Given the description of an element on the screen output the (x, y) to click on. 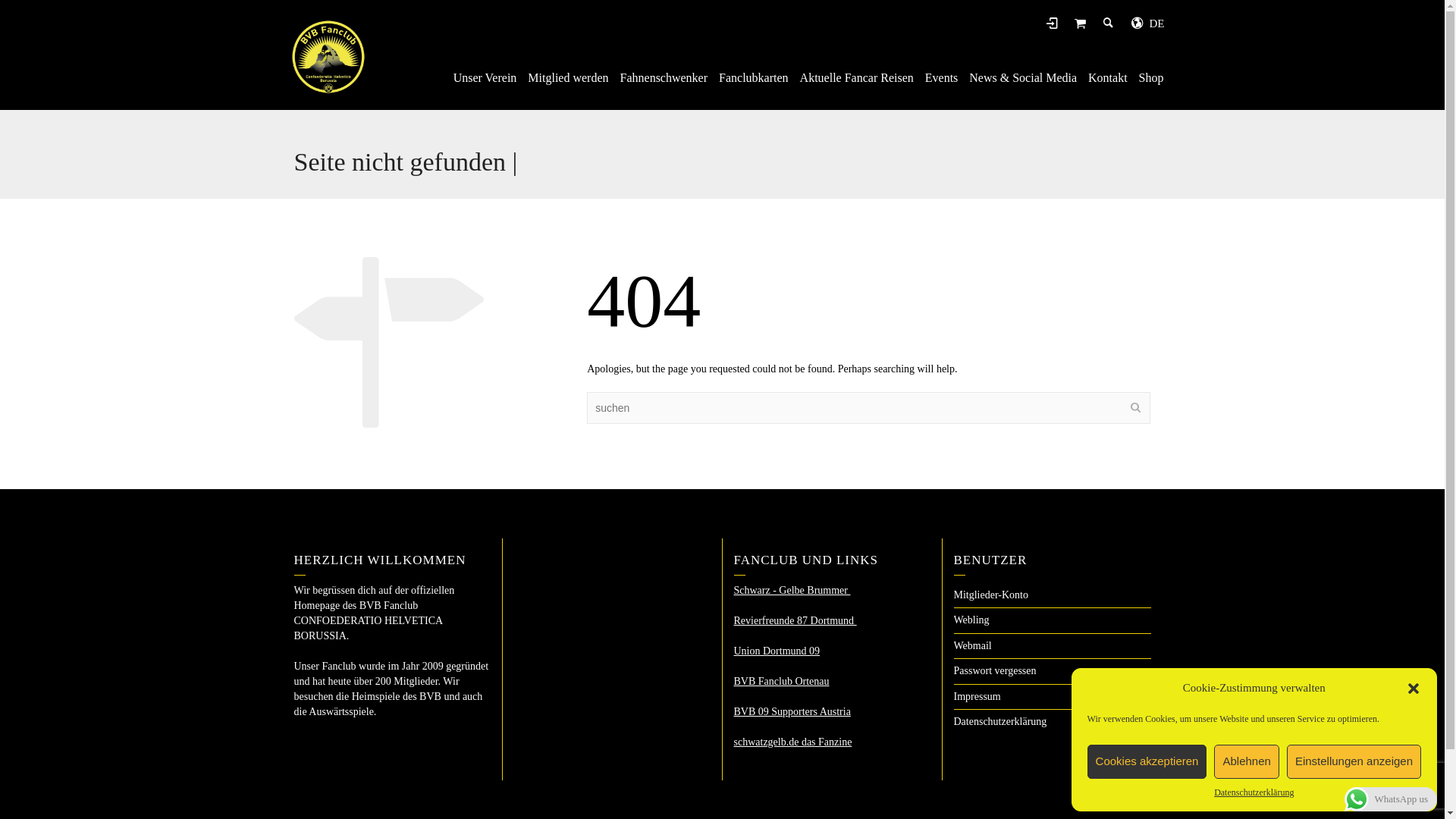
Revierfreunde 87 Dortmund  Element type: text (795, 620)
Events Element type: text (941, 78)
Mitglieder-Konto Element type: text (990, 594)
Shop Element type: text (1151, 78)
Einstellungen anzeigen Element type: text (1353, 761)
Aktuelle Fancar Reisen Element type: text (856, 78)
Fanclubkarten Element type: text (753, 78)
Kontakt Element type: text (1107, 78)
Mitglied werden Element type: text (568, 78)
BVB 09 Supporters Austria Element type: text (792, 711)
CONFOEDERATIO HELVETICA BORUSSIA Element type: hover (327, 55)
Unser Verein Element type: text (485, 78)
Fahnenschwenker Element type: text (664, 78)
Impressum Element type: text (977, 696)
Schwarz - Gelbe Brummer  Element type: text (792, 590)
Union Dortmund 09 Element type: text (777, 650)
Webling Element type: text (971, 619)
Webmail Element type: text (972, 645)
Cookies akzeptieren Element type: text (1147, 761)
News & Social Media Element type: text (1022, 78)
Ablehnen Element type: text (1246, 761)
schwatzgelb.de das Fanzine Element type: text (793, 741)
Passwort vergessen Element type: text (994, 670)
BVB Fanclub Ortenau Element type: text (781, 681)
